Given the description of an element on the screen output the (x, y) to click on. 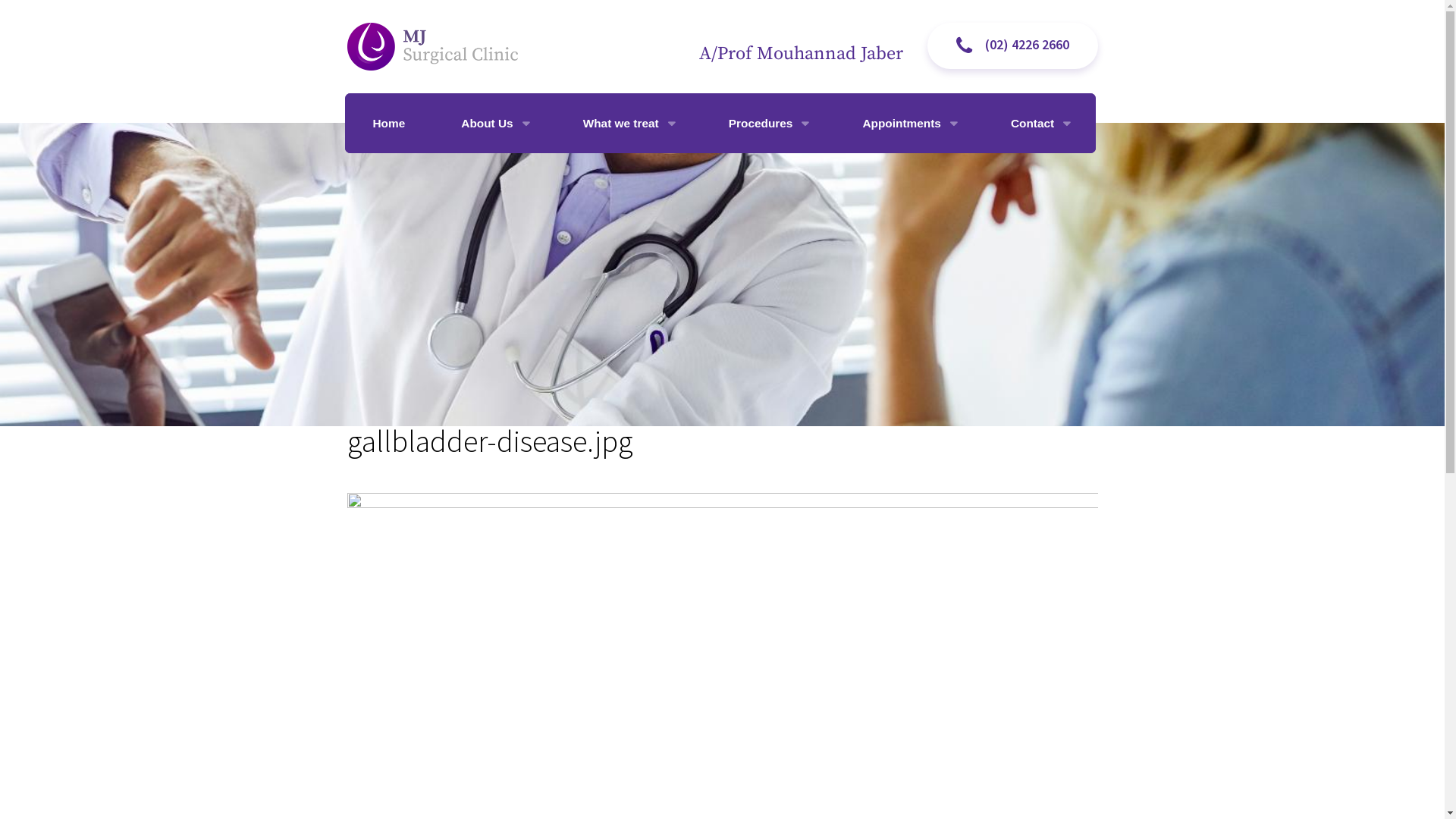
Our Practice Element type: text (546, 178)
Pancreas Element type: text (649, 351)
Appointments Element type: text (908, 123)
Laparoscopic Distal Pancreatectomy - Splenic Preserving Element type: text (889, 409)
SASI-S Element type: text (889, 581)
Frequently Asked Questions Element type: text (947, 236)
Laparoscopic Splenectomy Element type: text (889, 322)
Colonic Polyps Element type: text (649, 236)
Oesophageal Resection for cancer Element type: text (889, 437)
Laparoscopic and Open Gastrectomy Element type: text (889, 293)
Hiatus Hernia Repair Element type: text (889, 466)
(02) 4226 2660 Element type: text (1011, 45)
Weight Loss Surgery Element type: text (889, 178)
Laparoscopic Cholecystectomy and Cholangiogram Element type: text (889, 207)
Gastroscopy and Colonoscopy Element type: text (889, 236)
SADI-S Element type: text (889, 553)
Oesophagus Element type: text (649, 380)
Skip to main content Element type: text (64, 0)
Locations Element type: text (1000, 207)
Liver Element type: text (649, 322)
Home Element type: text (388, 123)
Obesity Element type: text (649, 178)
Procedures Element type: text (767, 123)
Fees and Payments Element type: text (947, 207)
Laparoscopic and Open Liver Resection Element type: text (889, 351)
Contact Us Element type: text (1000, 178)
About Us Element type: text (493, 123)
Abdominoplasty (Tummy Tuck) Element type: text (889, 610)
Assoc Prof Mouhannad Jaber Element type: text (546, 207)
Small Bowel Resection Element type: text (889, 495)
Stomach and Spleen Element type: text (649, 293)
Hernia Repair Element type: text (889, 265)
Hernia Element type: text (649, 265)
Gallbladder Disease Element type: text (649, 207)
Your Visit Element type: text (947, 178)
Robotic Surgery Element type: text (889, 524)
Contact Element type: text (1038, 123)
What we treat Element type: text (627, 123)
